Given the description of an element on the screen output the (x, y) to click on. 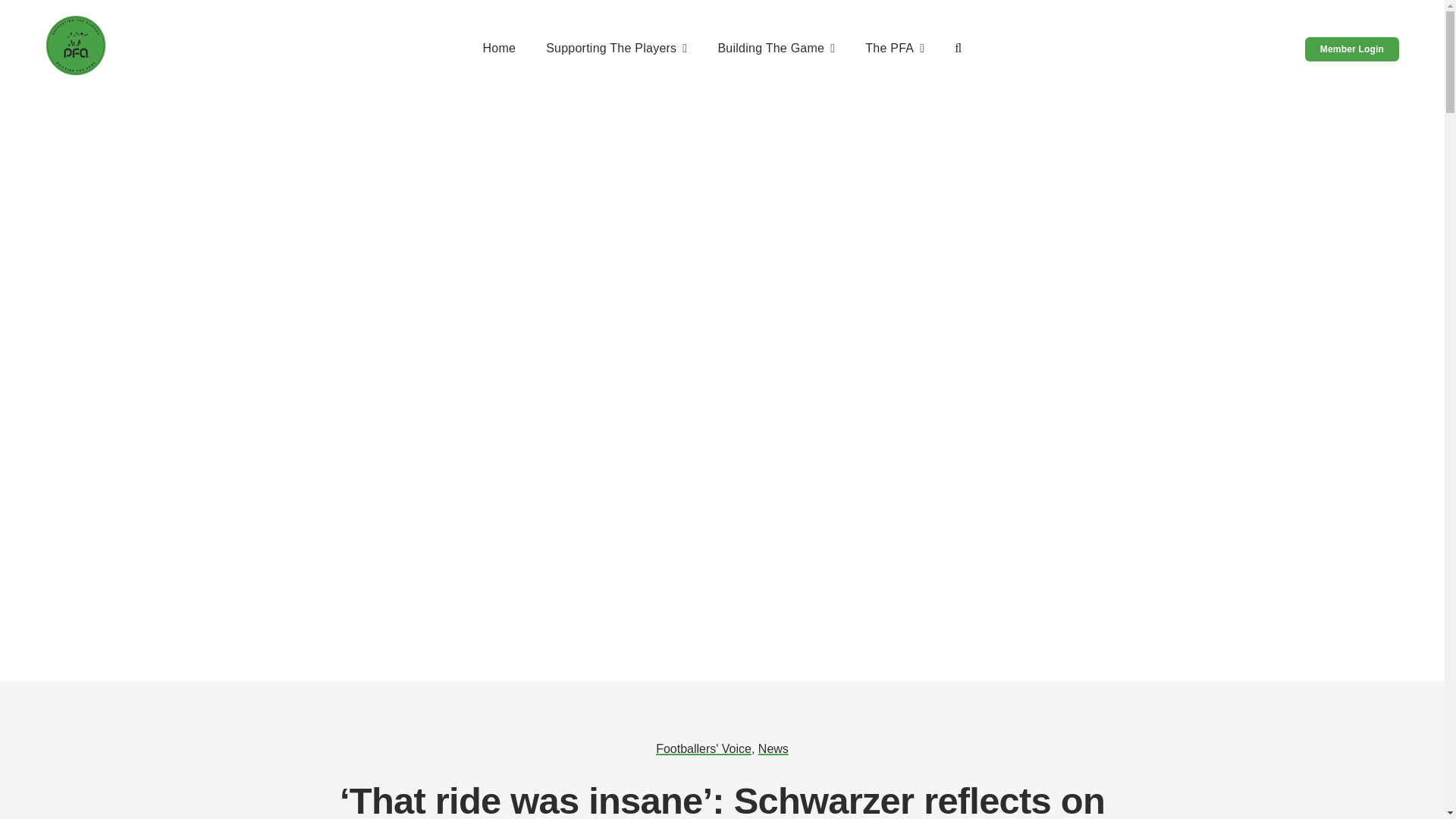
Footballers' Voice (703, 748)
Supporting The Players (616, 49)
News (773, 748)
News (773, 748)
The PFA (894, 49)
Building The Game (775, 49)
Member Login (1351, 48)
Home (498, 49)
Footballers' Voice (703, 748)
